Given the description of an element on the screen output the (x, y) to click on. 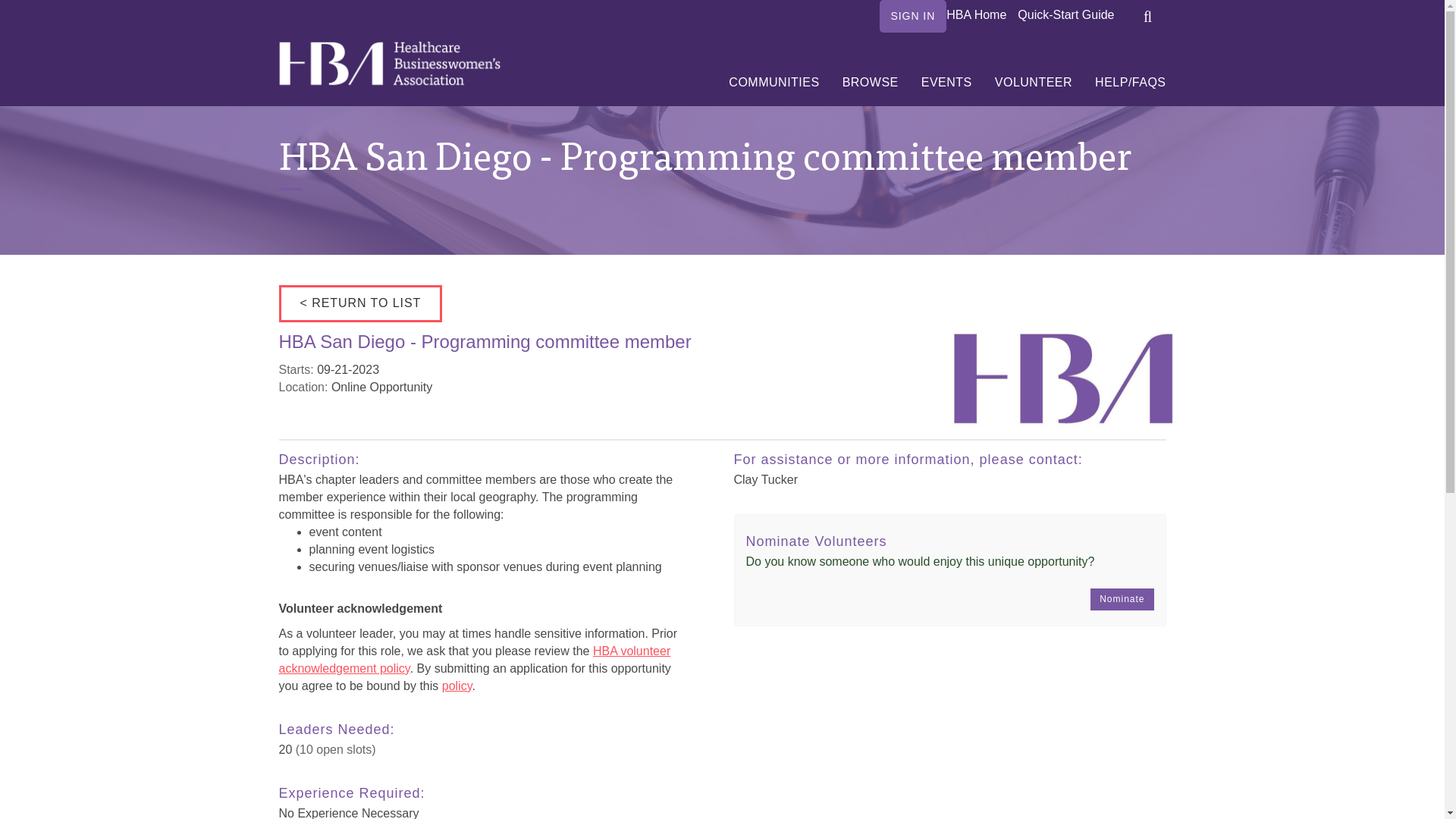
EVENTS (947, 82)
HBA volunteer acknowledgement policy (475, 659)
Quick-Start Guide (1065, 14)
SIGN IN (913, 16)
Nominate (1121, 599)
BROWSE (870, 82)
VOLUNTEER (1033, 82)
COMMUNITIES (773, 82)
policy (456, 685)
HBA Home (976, 14)
